Given the description of an element on the screen output the (x, y) to click on. 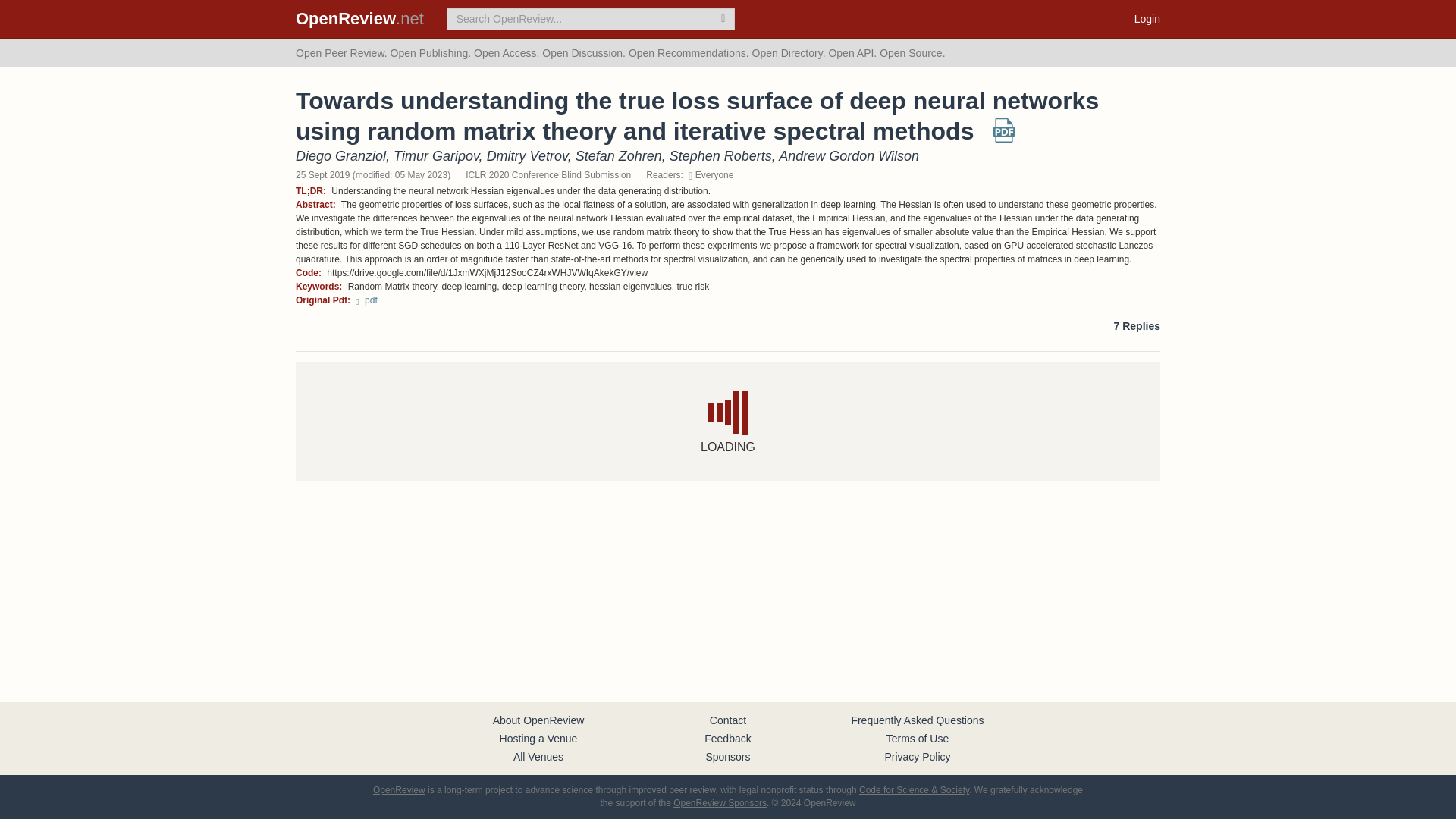
Download Original Pdf (366, 299)
Login (1147, 18)
OpenReview Sponsors (719, 802)
OpenReview (398, 789)
Terms of Use (917, 738)
Hosting a Venue (538, 738)
Andrew Gordon Wilson (848, 155)
Privacy Policy (916, 756)
Feedback (727, 738)
Dmitry Vetrov (526, 155)
Stefan Zohren (618, 155)
Contact (727, 720)
OpenReview.net (359, 18)
Download PDF (1003, 136)
Timur Garipov (436, 155)
